Given the description of an element on the screen output the (x, y) to click on. 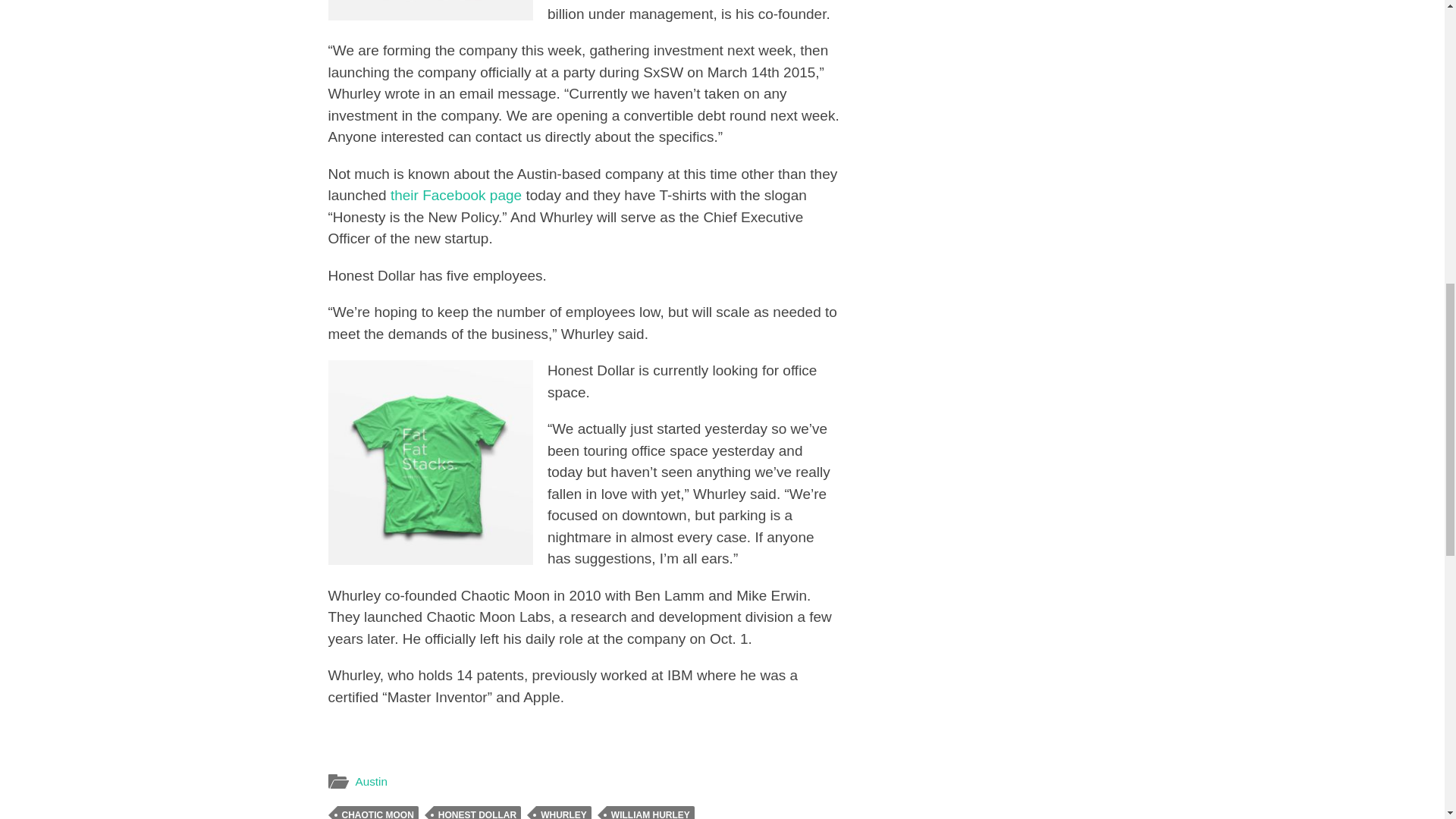
HONEST DOLLAR (477, 812)
their Facebook page (455, 195)
Austin (371, 780)
CHAOTIC MOON (376, 812)
